Given the description of an element on the screen output the (x, y) to click on. 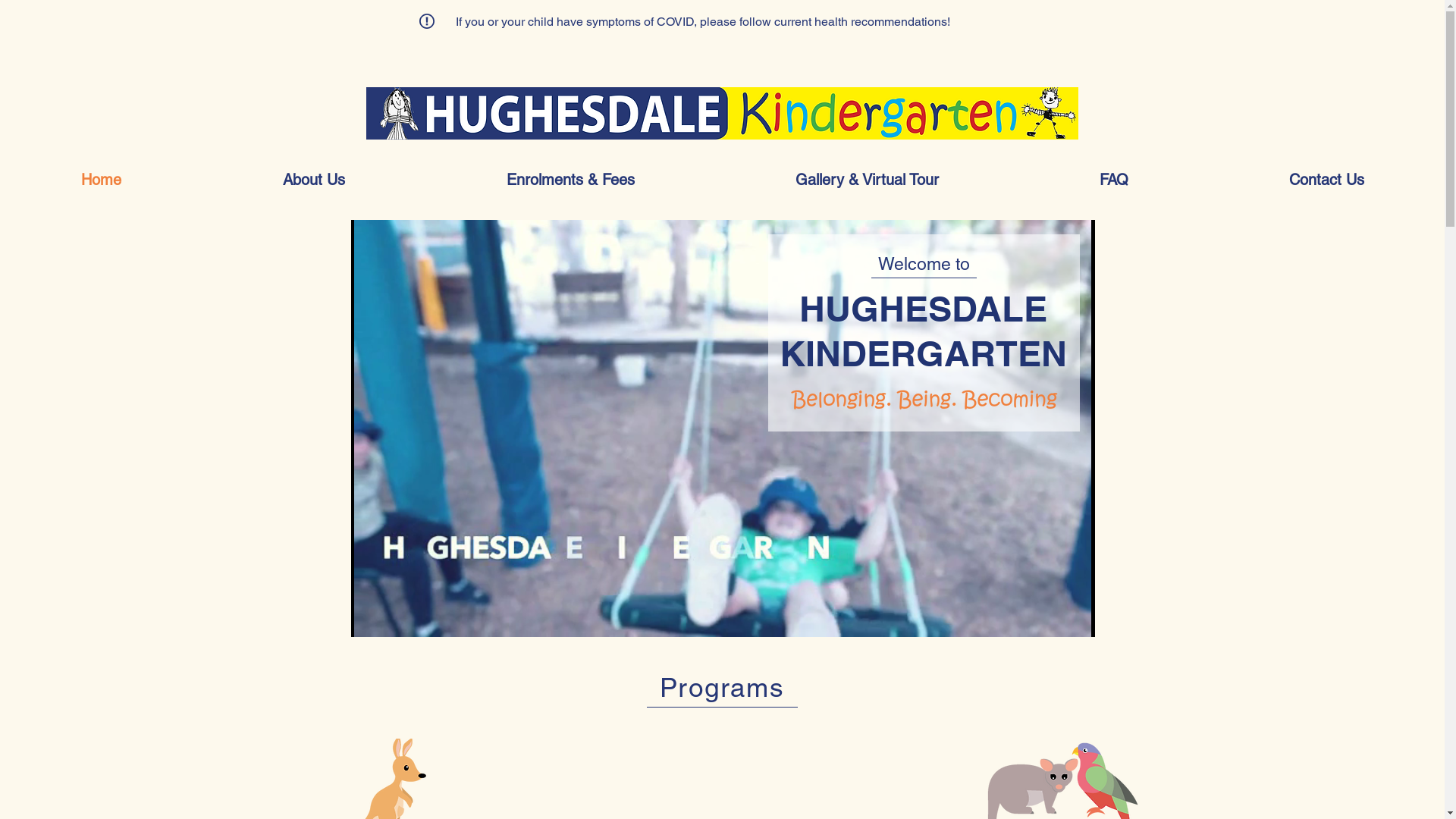
Belonging.Being.Becoming.png Element type: hover (923, 399)
About Us Element type: text (313, 179)
Enrolments & Fees Element type: text (570, 179)
Home Element type: text (100, 179)
Contact Us Element type: text (1326, 179)
Gallery & Virtual Tour Element type: text (867, 179)
FAQ Element type: text (1113, 179)
